Given the description of an element on the screen output the (x, y) to click on. 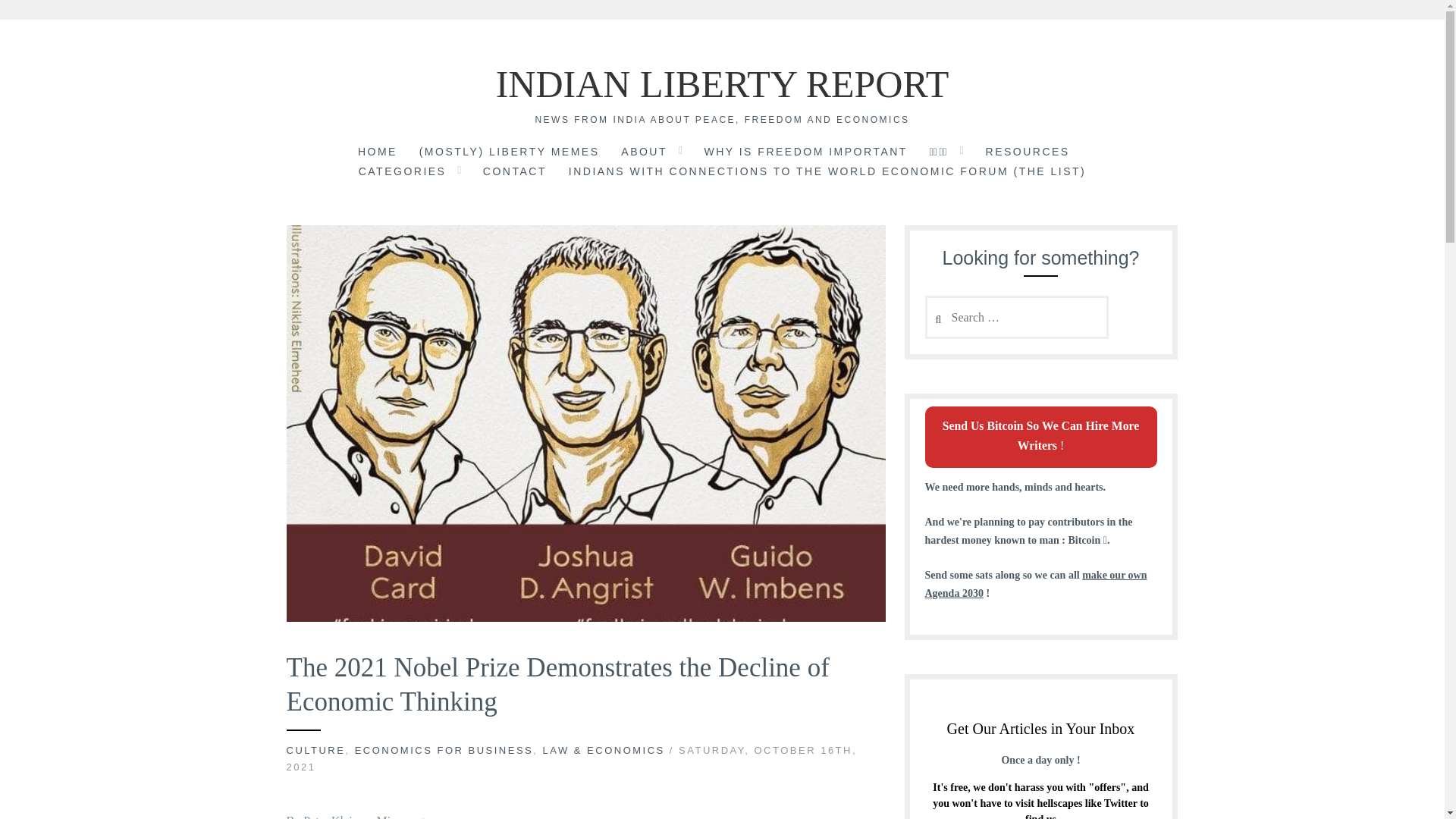
CONTACT (515, 172)
INDIAN LIBERTY REPORT (722, 84)
By Peter Klein on Mises.org (355, 816)
WHY IS FREEDOM IMPORTANT (805, 152)
ABOUT (643, 152)
CATEGORIES (402, 172)
HOME (377, 152)
CULTURE (316, 749)
RESOURCES (1027, 152)
ECONOMICS FOR BUSINESS (444, 749)
